Given the description of an element on the screen output the (x, y) to click on. 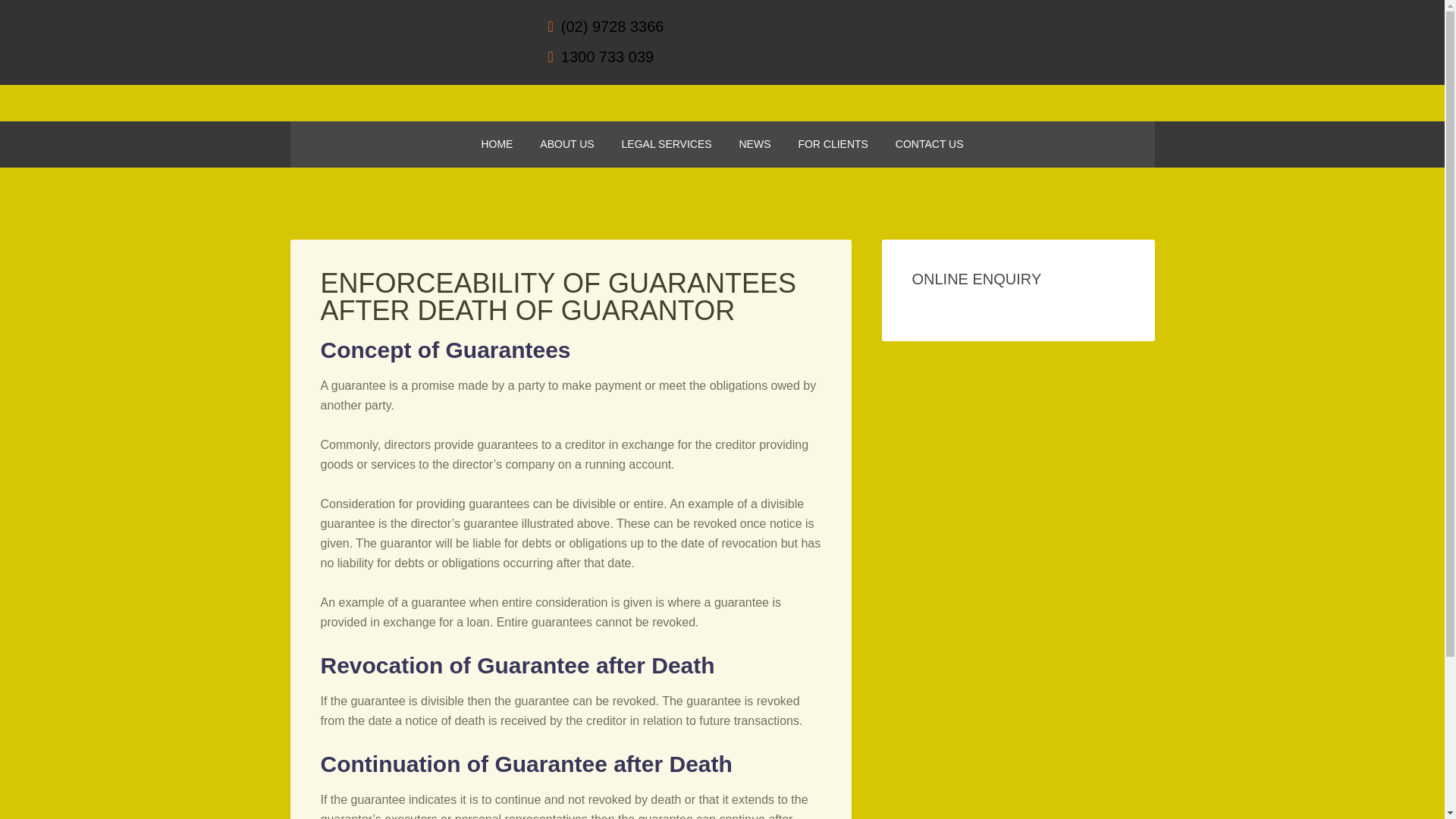
FOR CLIENTS (833, 144)
HOME (496, 144)
LEGAL SERVICES (666, 144)
Kazi Portolesi Lawyers (402, 22)
NEWS (754, 144)
ABOUT US (566, 144)
